Given the description of an element on the screen output the (x, y) to click on. 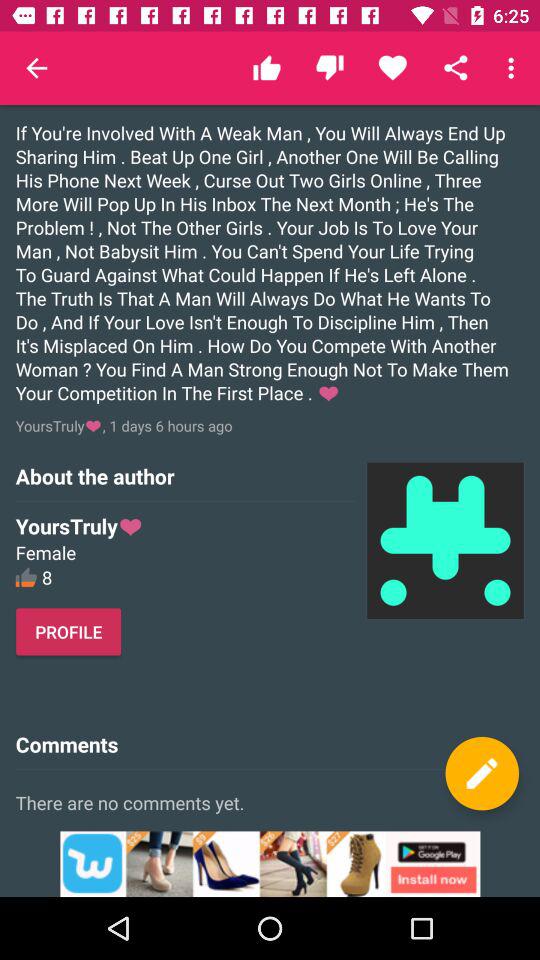
click on the three dot button at the top right corner of the page (514, 68)
click on the profile button (70, 631)
click on the image beside profile button (445, 540)
